Given the description of an element on the screen output the (x, y) to click on. 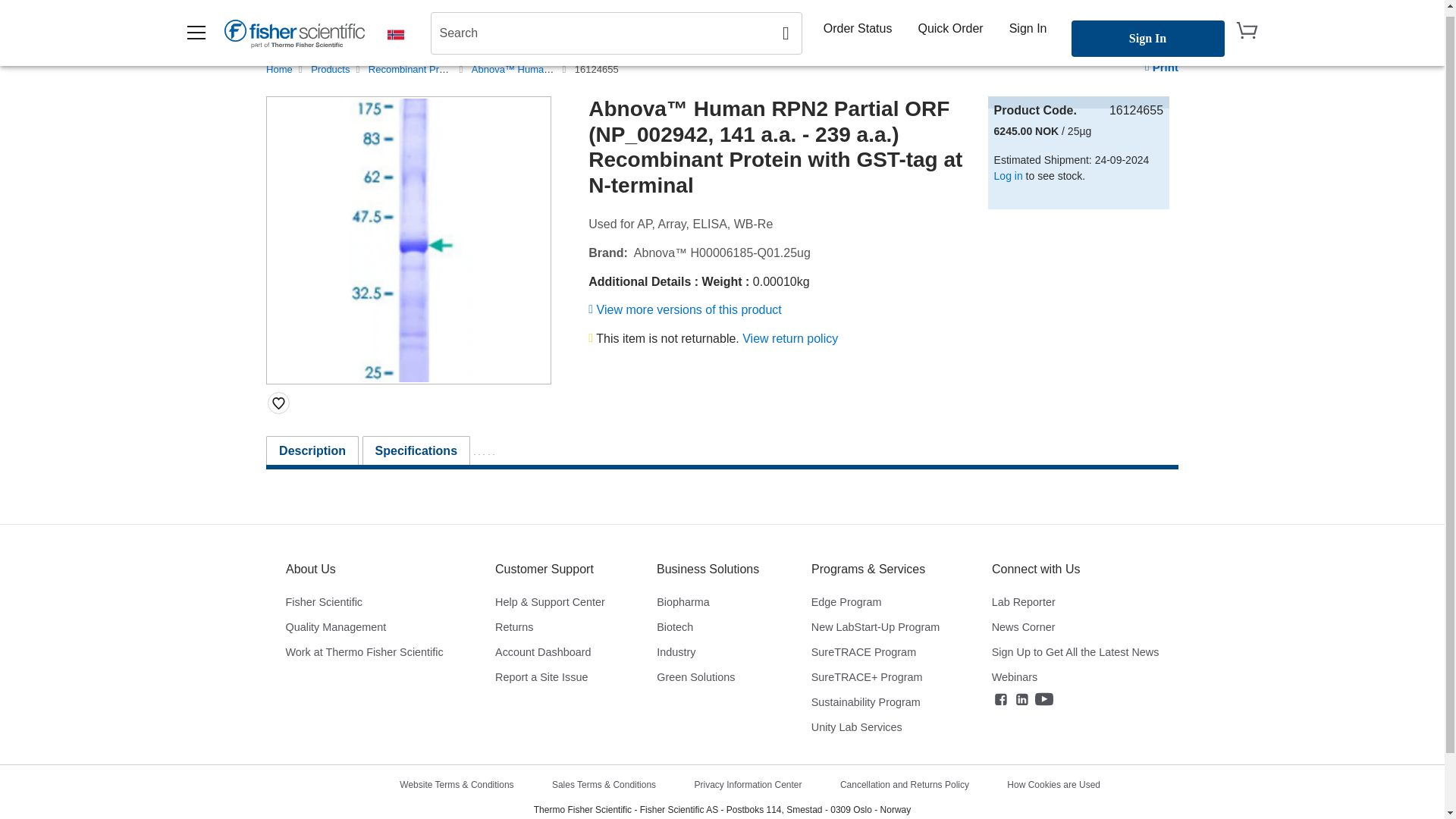
16124655 (596, 69)
Sign In (1147, 32)
Recombinant Proteins (416, 69)
Sign In (1028, 22)
Products (330, 69)
LinkedIn icon LinkedIn icon (1021, 699)
Print (1160, 66)
Quick Order (949, 22)
Facebook icon Facebook icon (1000, 699)
YouTube Icon YouTube Icon (1043, 699)
Order Status (857, 22)
Home (279, 69)
